Given the description of an element on the screen output the (x, y) to click on. 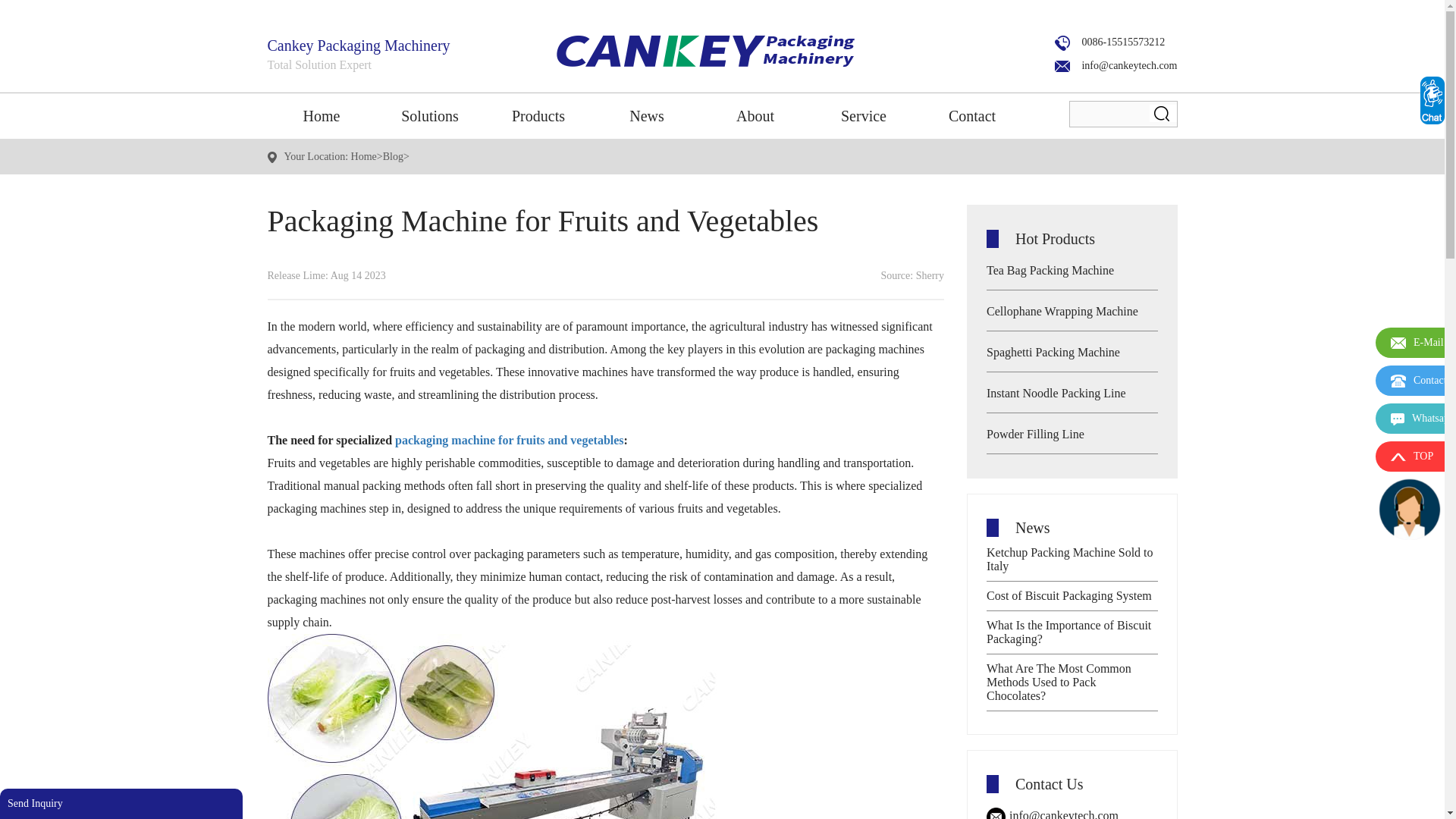
Home (320, 115)
Products (537, 115)
Products (537, 115)
Home (320, 115)
Solutions (429, 115)
News (646, 115)
0086-15515573212 (1109, 41)
News (646, 115)
About (754, 115)
